Given the description of an element on the screen output the (x, y) to click on. 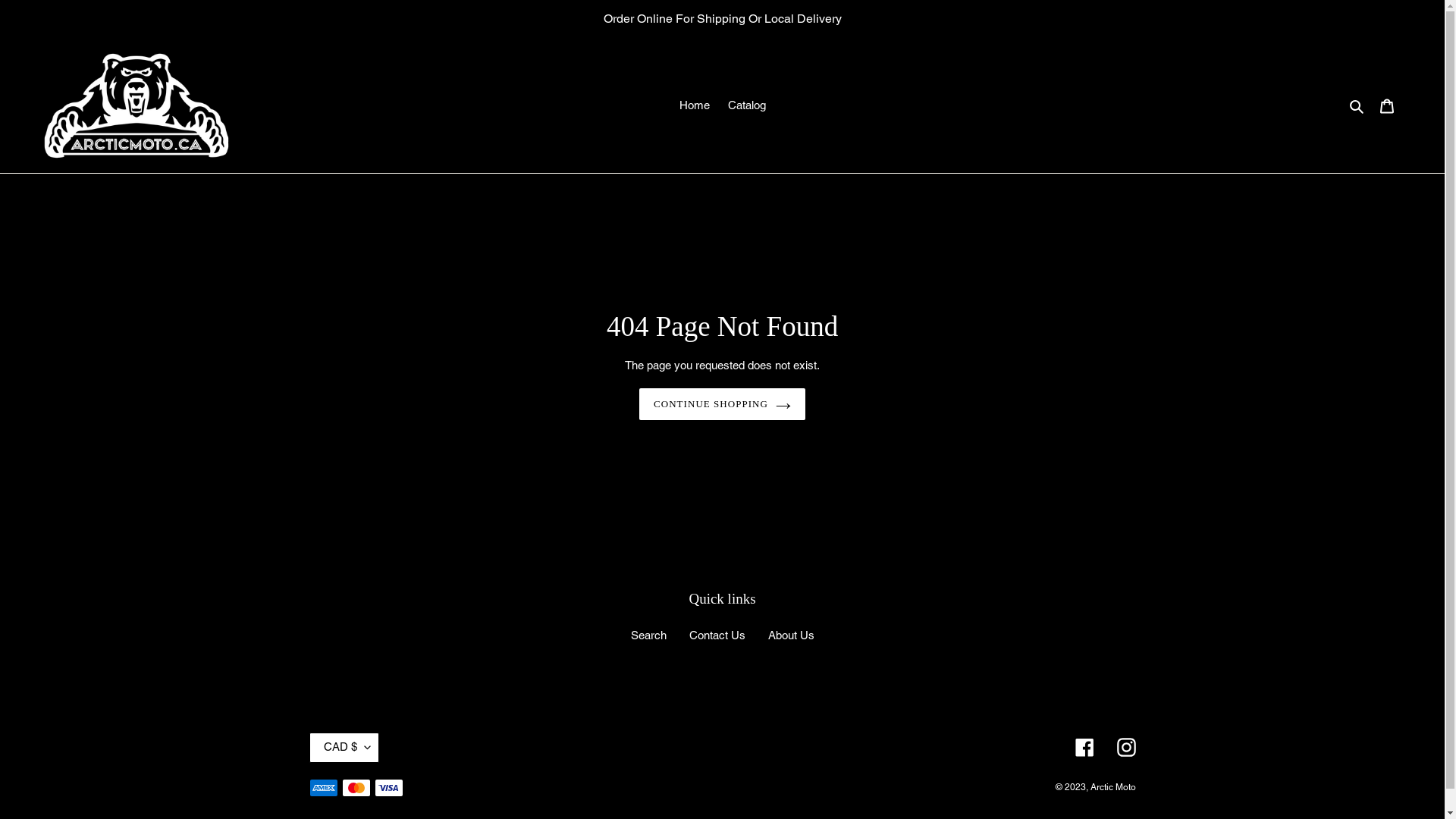
Search Element type: text (1357, 105)
About Us Element type: text (790, 634)
CONTINUE SHOPPING Element type: text (722, 404)
Catalog Element type: text (746, 105)
Home Element type: text (694, 105)
Search Element type: text (648, 634)
CAD $ Element type: text (344, 747)
Contact Us Element type: text (716, 634)
Instagram Element type: text (1125, 746)
Arctic Moto Element type: text (1112, 787)
Facebook Element type: text (1084, 746)
Cart Element type: text (1386, 105)
